Given the description of an element on the screen output the (x, y) to click on. 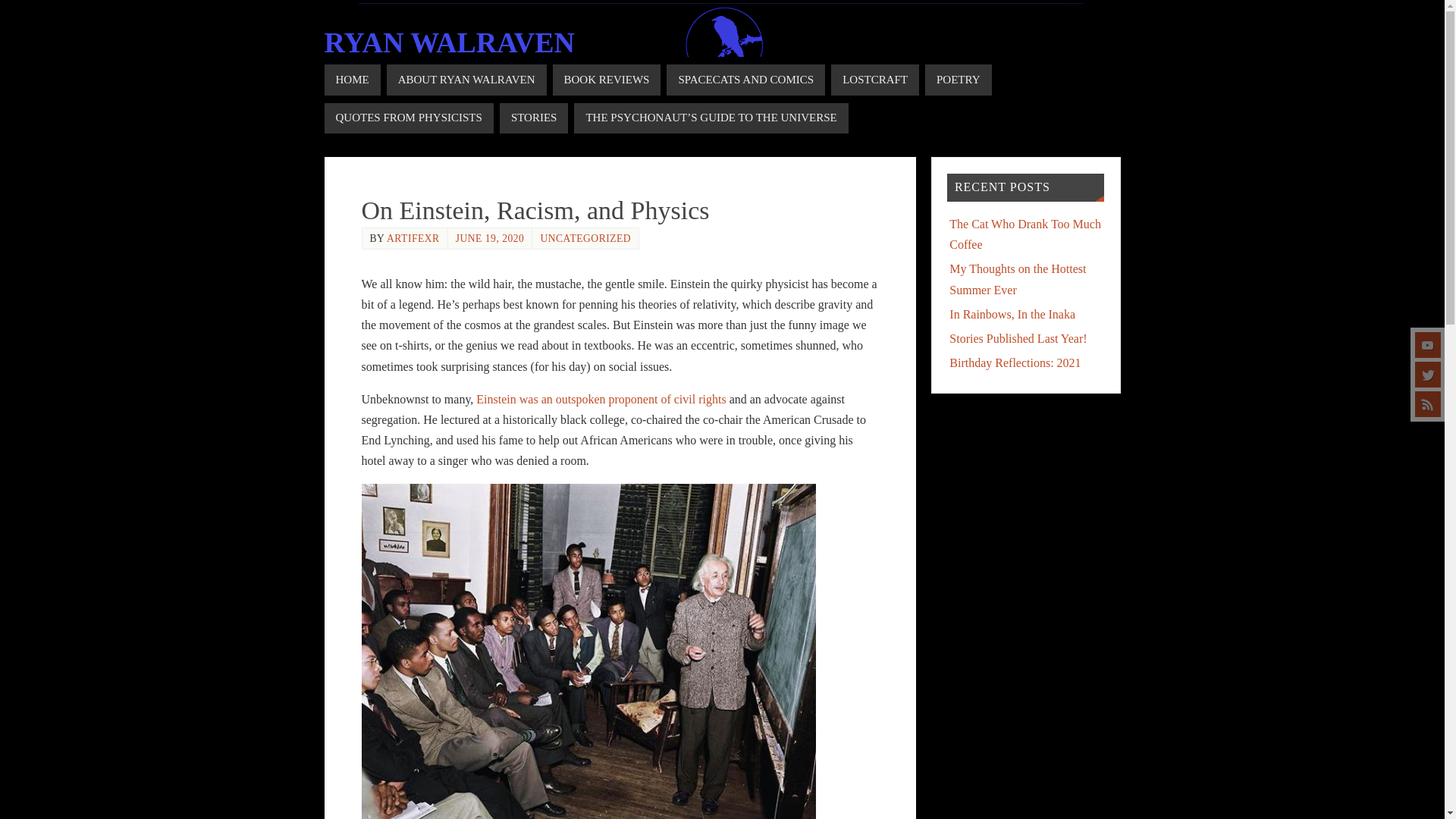
In Rainbows, In the Inaka (1012, 314)
View all posts by ArtifexR (413, 238)
LOSTCRAFT (874, 79)
RSS (1428, 403)
RYAN WALRAVEN (449, 42)
ABOUT RYAN WALRAVEN (467, 79)
QUOTES FROM PHYSICISTS (408, 118)
UNCATEGORIZED (585, 238)
ARTIFEXR (413, 238)
The Cat Who Drank Too Much Coffee (1024, 233)
Ryan Walraven (449, 42)
Twitter (1428, 374)
HOME (352, 79)
Stories Published Last Year! (1017, 338)
YouTube (1428, 344)
